Given the description of an element on the screen output the (x, y) to click on. 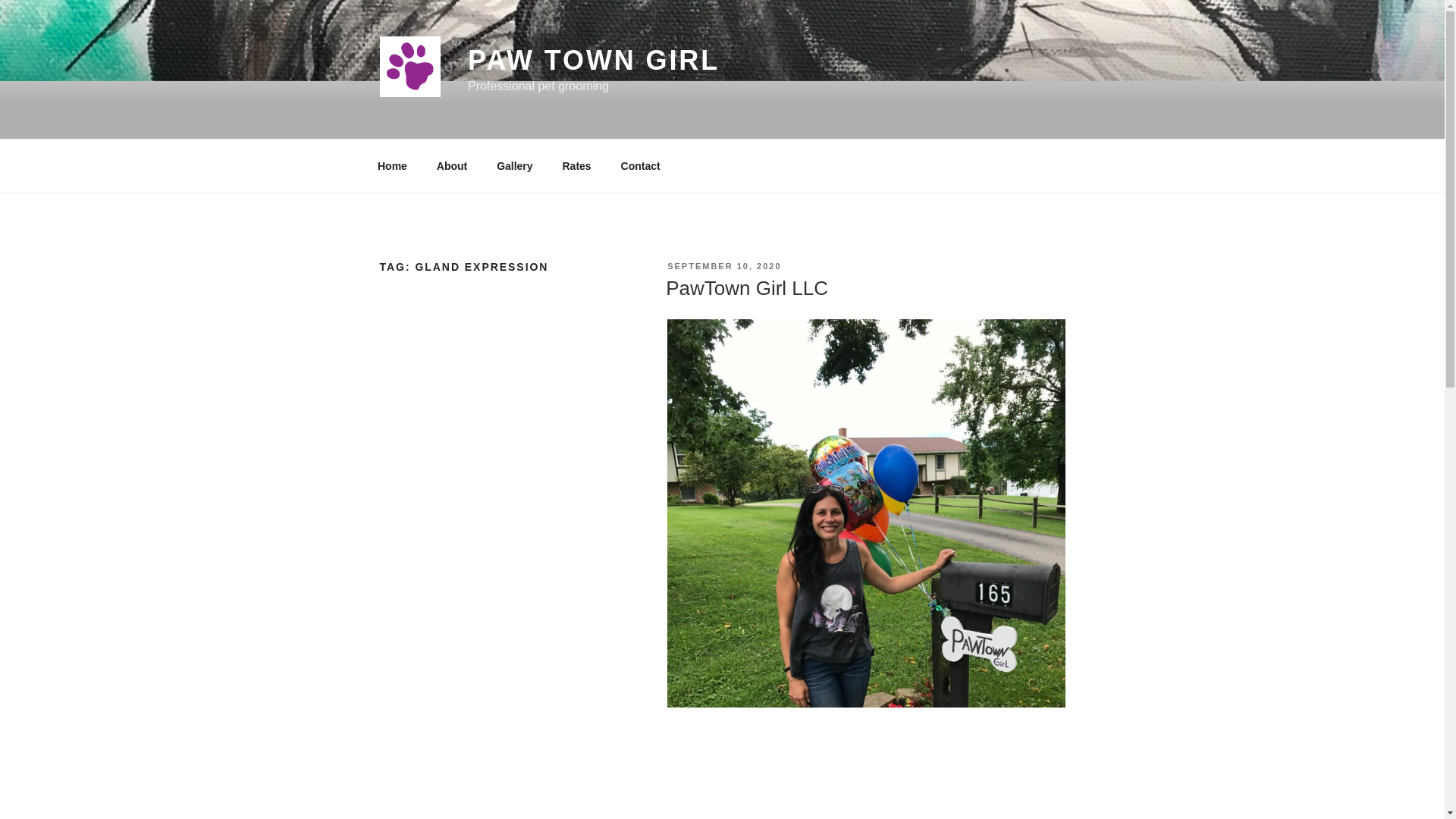
Rates (576, 165)
Contact (639, 165)
About (451, 165)
PawTown Girl LLC (746, 287)
Gallery (514, 165)
PAW TOWN GIRL (593, 60)
Home (392, 165)
SEPTEMBER 10, 2020 (723, 266)
